Given the description of an element on the screen output the (x, y) to click on. 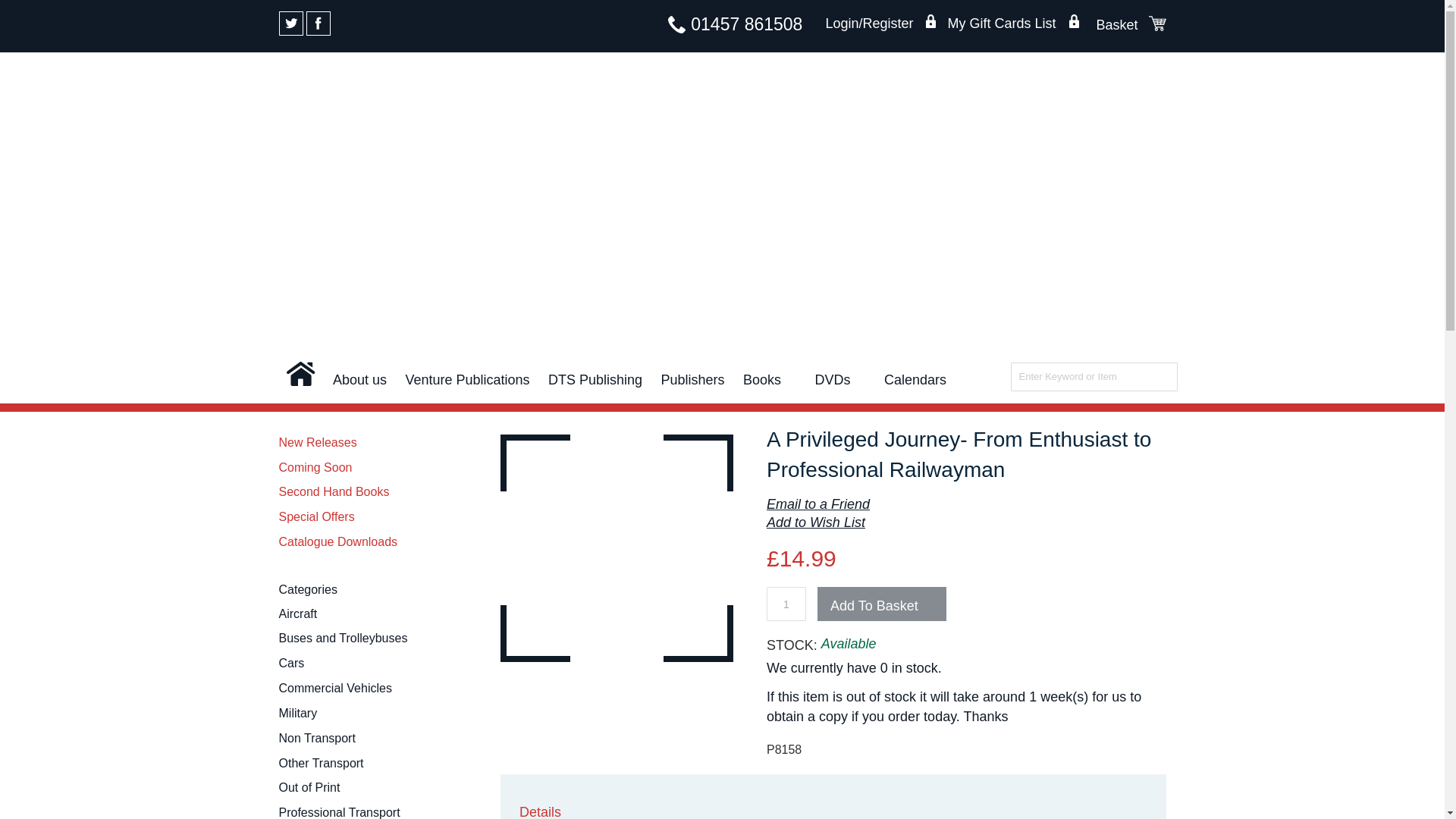
Add to Basket (881, 603)
Publishers (693, 382)
About us (360, 382)
Venture Publications (466, 382)
DTS Publishing (595, 382)
My Gift Cards List (1012, 23)
Basket (1157, 22)
facebook (317, 23)
Availability (848, 643)
Books (769, 382)
